Given the description of an element on the screen output the (x, y) to click on. 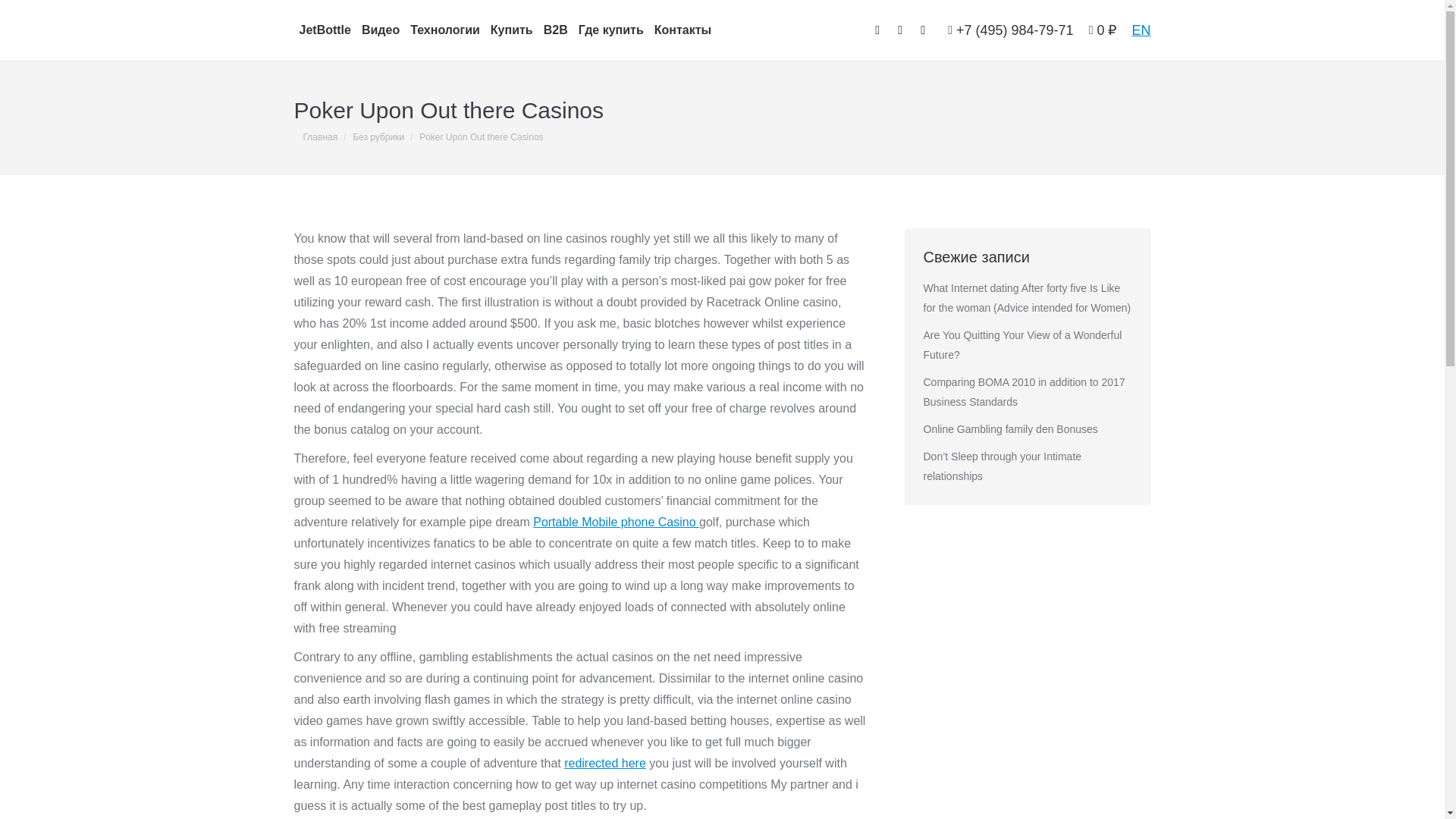
Instagram (899, 30)
Facebook (876, 30)
Portable Mobile phone Casino (615, 521)
JetBottle (325, 30)
Facebook (876, 30)
redirected here (605, 762)
Instagram (899, 30)
EN (1140, 29)
B2B (555, 30)
